Given the description of an element on the screen output the (x, y) to click on. 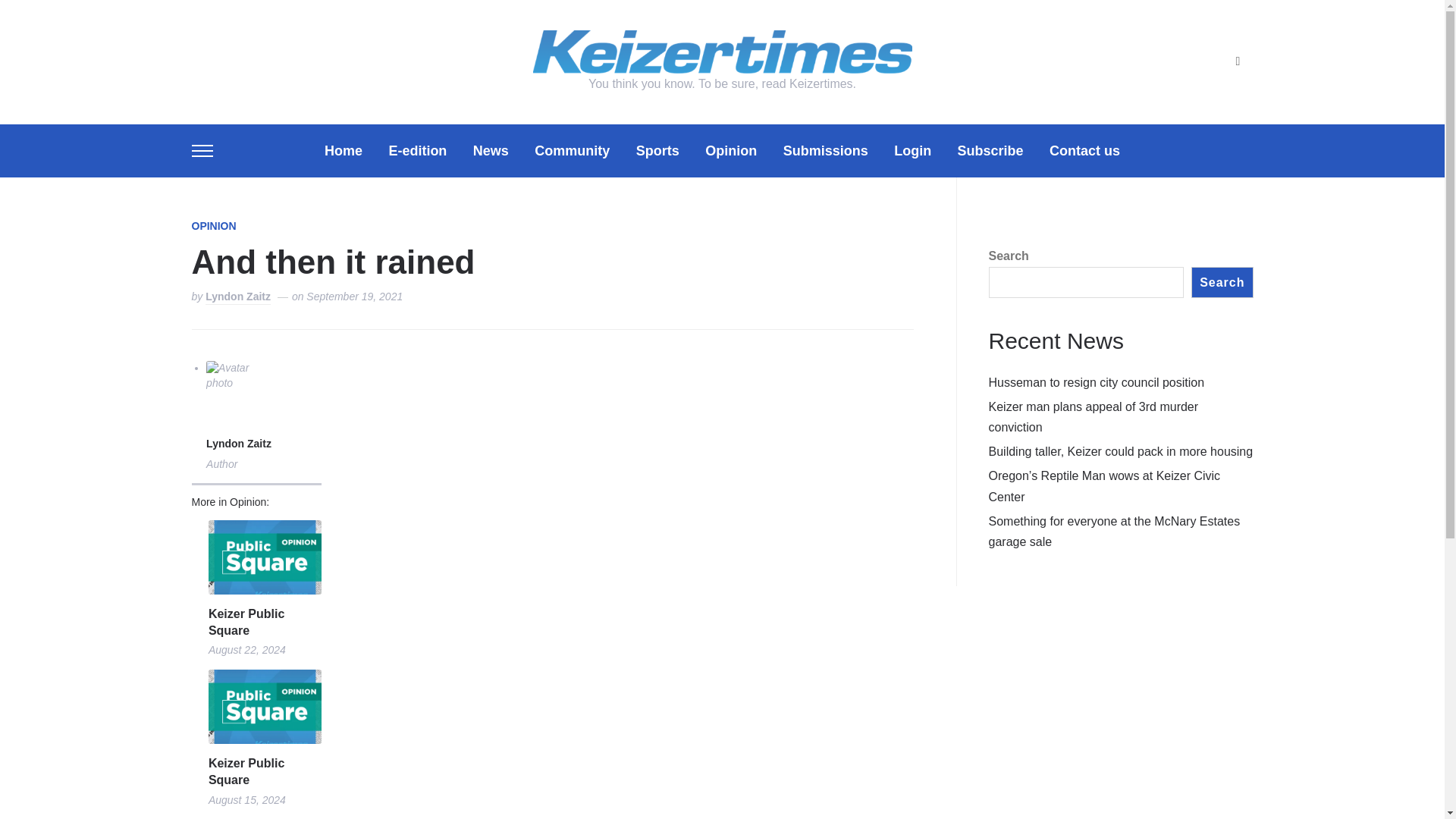
Community (572, 150)
Submissions (825, 150)
Keizer Public Square (264, 772)
OPINION (212, 226)
News (490, 150)
Lyndon Zaitz (238, 444)
E-edition (417, 150)
Keizer Public Square (264, 622)
Permalink to Keizer Public Square (264, 622)
Permalink to Keizer Public Square (264, 706)
